Given the description of an element on the screen output the (x, y) to click on. 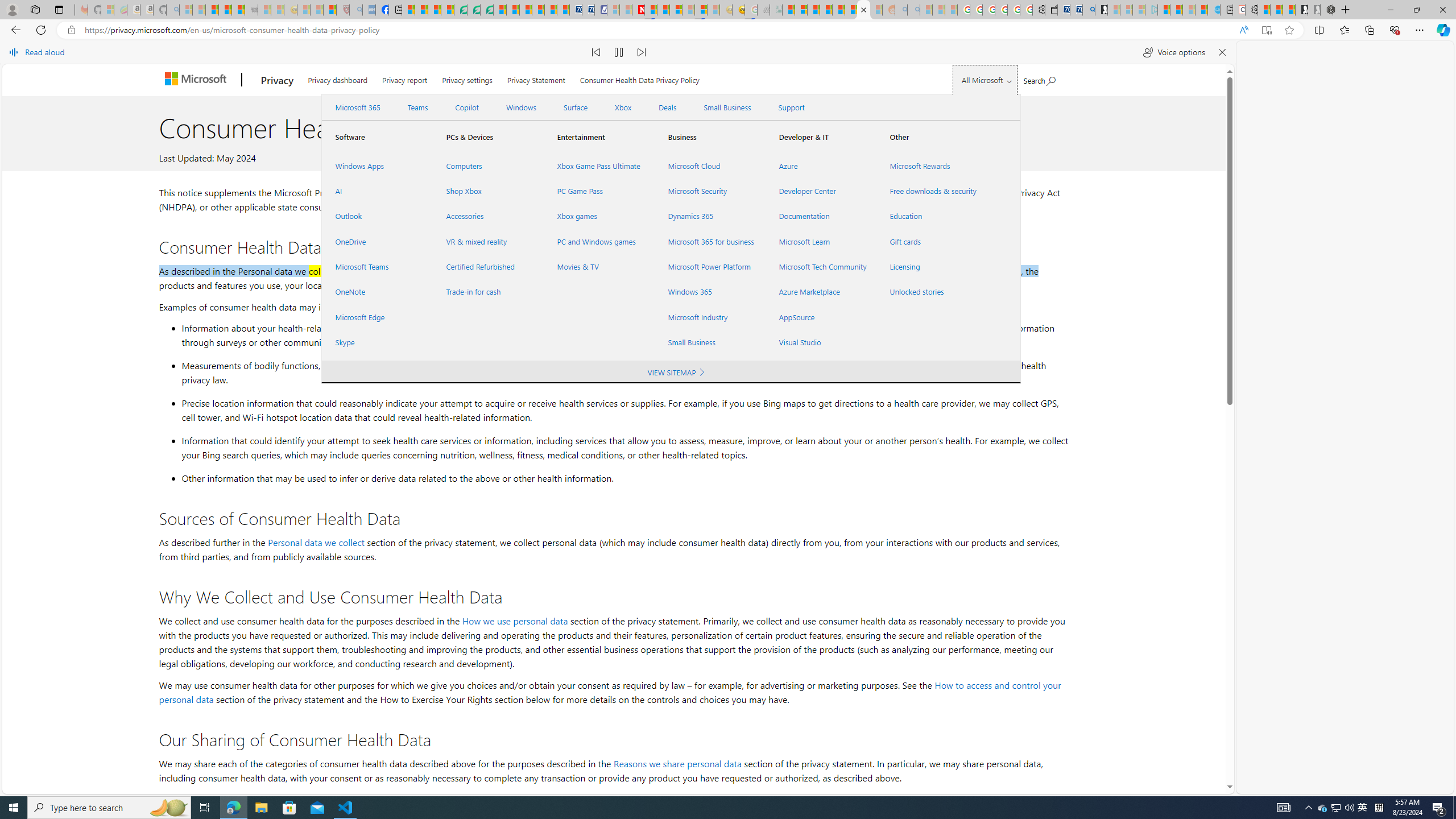
Windows Apps (376, 165)
Personal data we collect (315, 541)
Play Free Online Games | Games from Microsoft Start (1301, 9)
Trade-in for cash (487, 291)
Robert H. Shmerling, MD - Harvard Health - Sleeping (342, 9)
Windows (521, 107)
Certified Refurbished (487, 266)
Microsoft Security (709, 190)
Nordace - Nordace Siena Is Not An Ordinary Backpack (1327, 9)
Gift cards (931, 240)
Home | Sky Blue Bikes - Sky Blue Bikes (1213, 9)
